Given the description of an element on the screen output the (x, y) to click on. 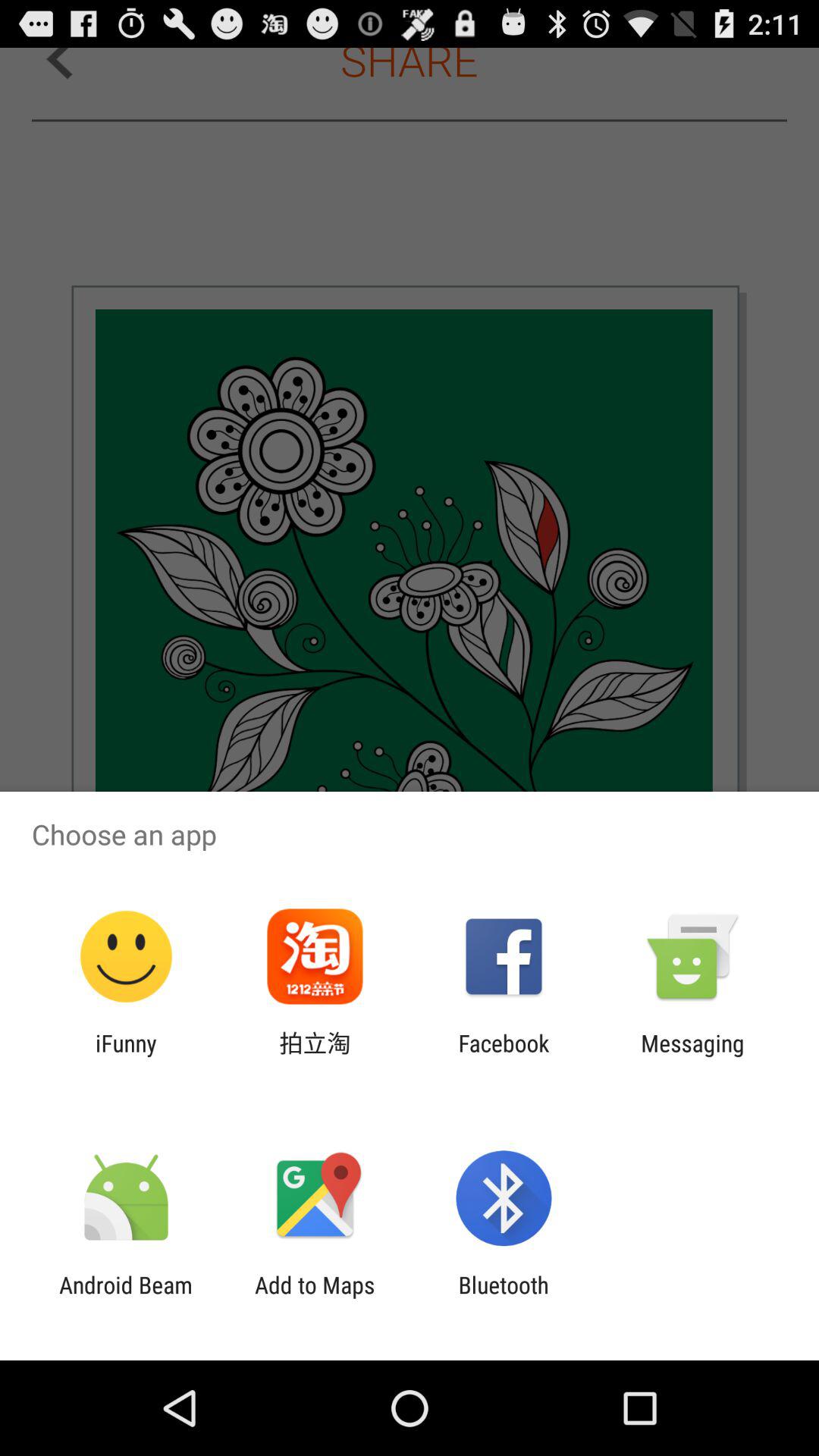
tap icon next to messaging icon (503, 1056)
